Given the description of an element on the screen output the (x, y) to click on. 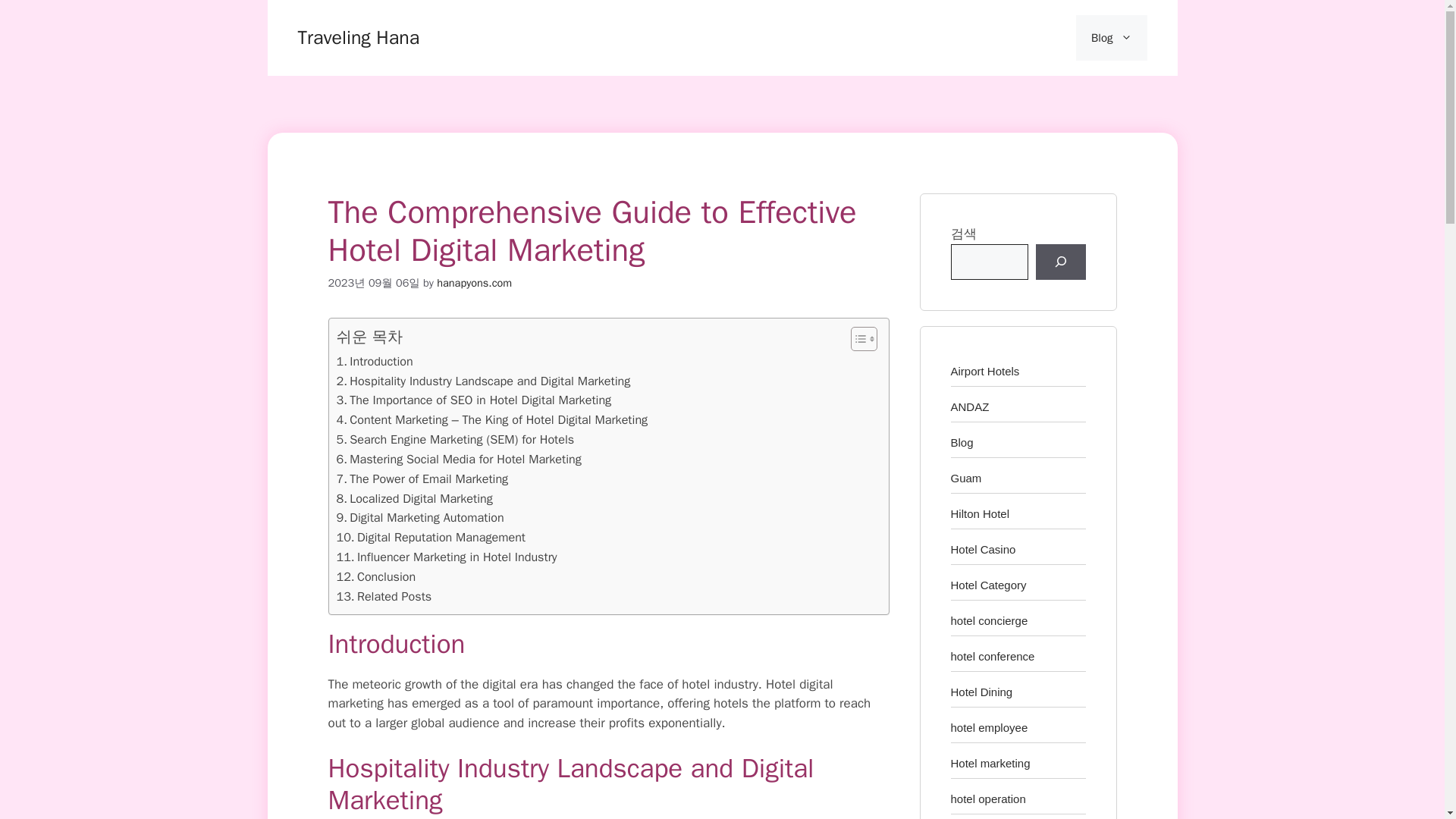
Localized Digital Marketing (414, 498)
Related Posts (384, 596)
Airport Hotels (985, 370)
Digital Reputation Management (430, 537)
The Importance of SEO in Hotel Digital Marketing (473, 400)
Influencer Marketing in Hotel Industry (446, 557)
Hotel Category (988, 584)
Localized Digital Marketing (414, 498)
ANDAZ (970, 406)
Digital Marketing Automation (419, 517)
Traveling Hana (358, 37)
Digital Reputation Management (430, 537)
Related Posts (384, 596)
Introduction (374, 361)
Hospitality Industry Landscape and Digital Marketing (483, 381)
